Given the description of an element on the screen output the (x, y) to click on. 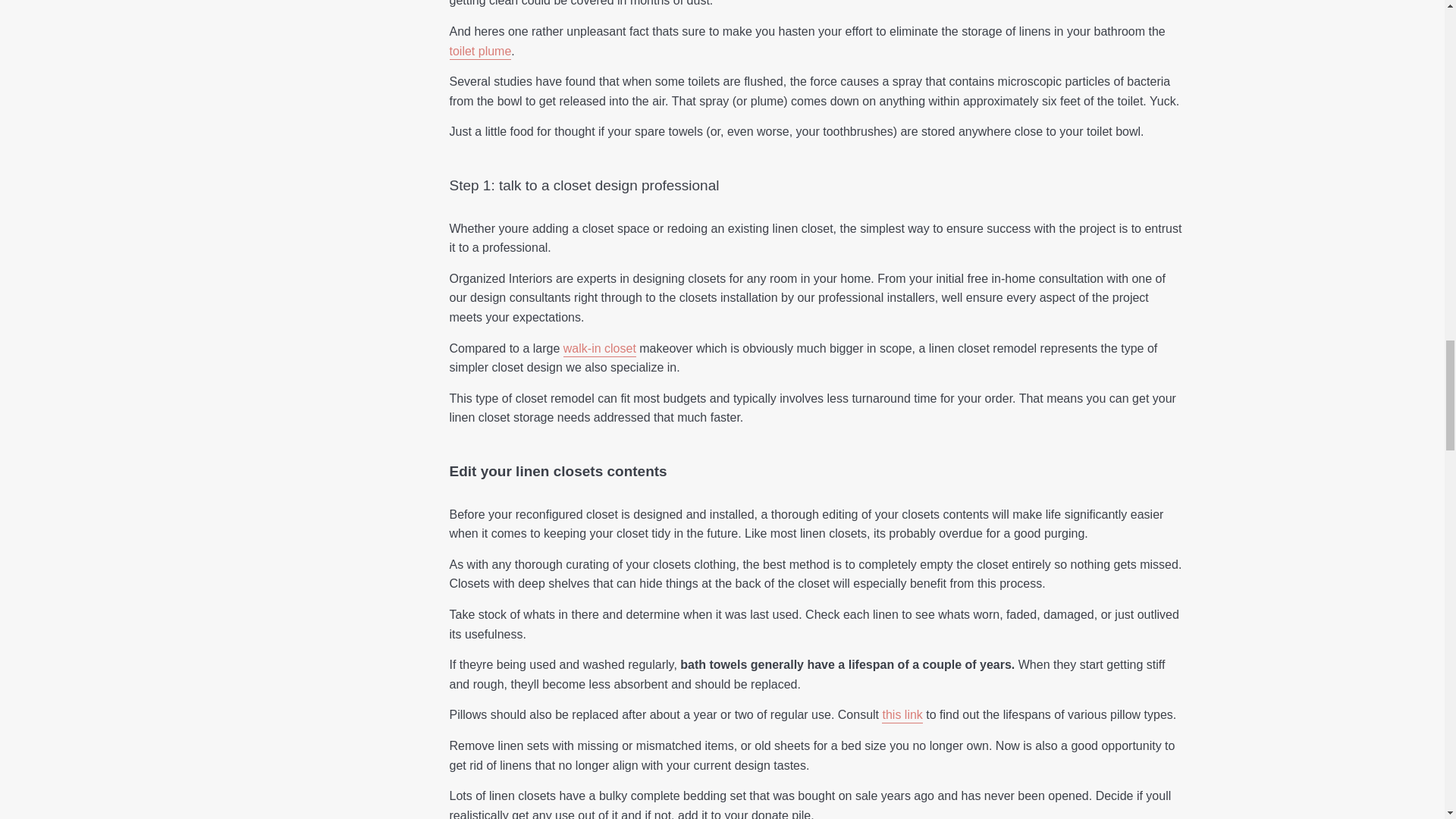
toilet plume (479, 52)
walk-in closet (599, 349)
this link (901, 715)
